Given the description of an element on the screen output the (x, y) to click on. 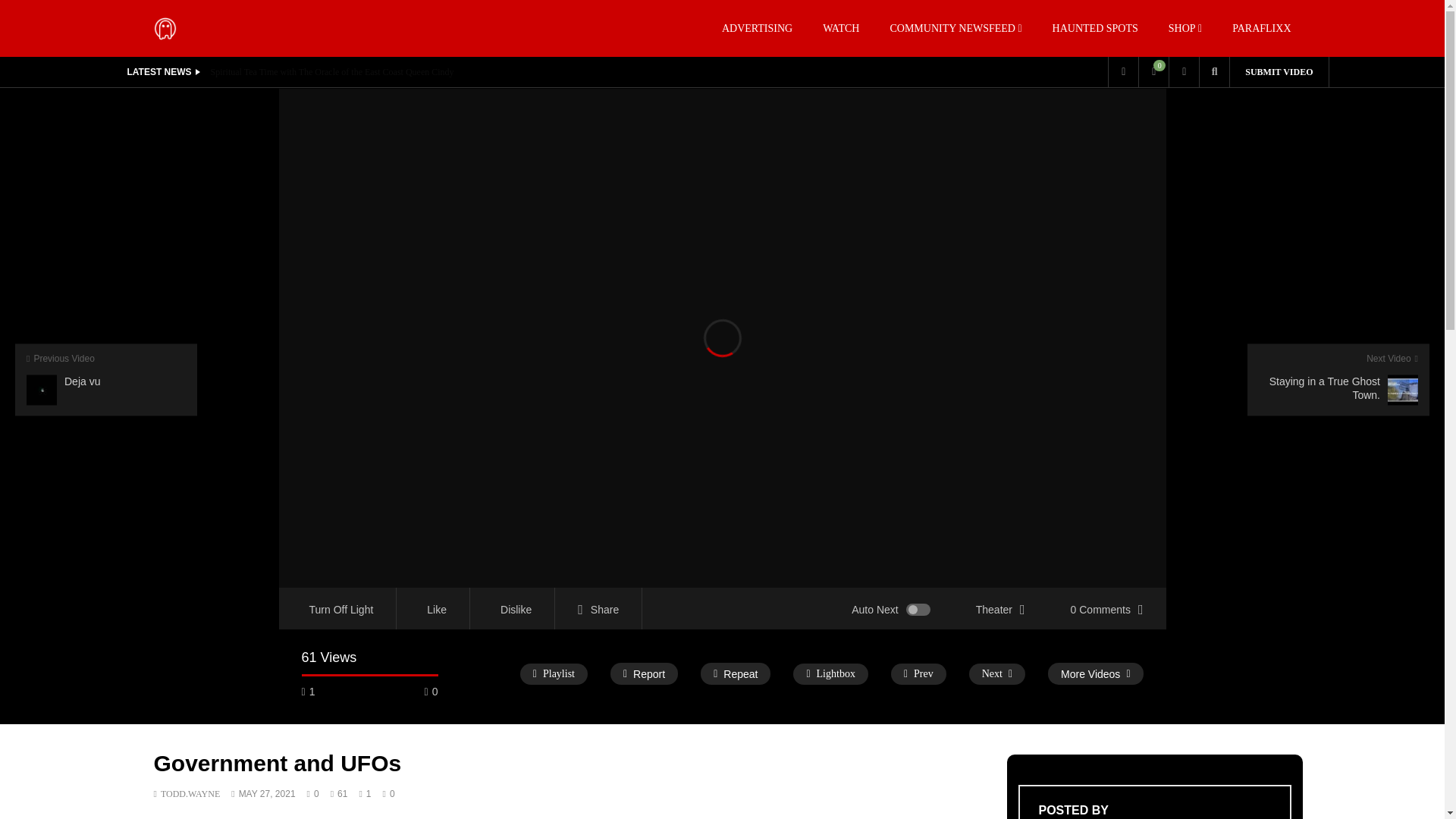
COMMUNITY NEWSFEED (955, 28)
ADVERTISING (757, 28)
0 (1153, 71)
PARAFLIXX (1261, 28)
WATCH (841, 28)
SUBMIT VIDEO (1277, 71)
Parapost Network (164, 27)
0 Comments (1107, 608)
HAUNTED SPOTS (1094, 28)
SHOP (1185, 28)
Search (1191, 101)
